Given the description of an element on the screen output the (x, y) to click on. 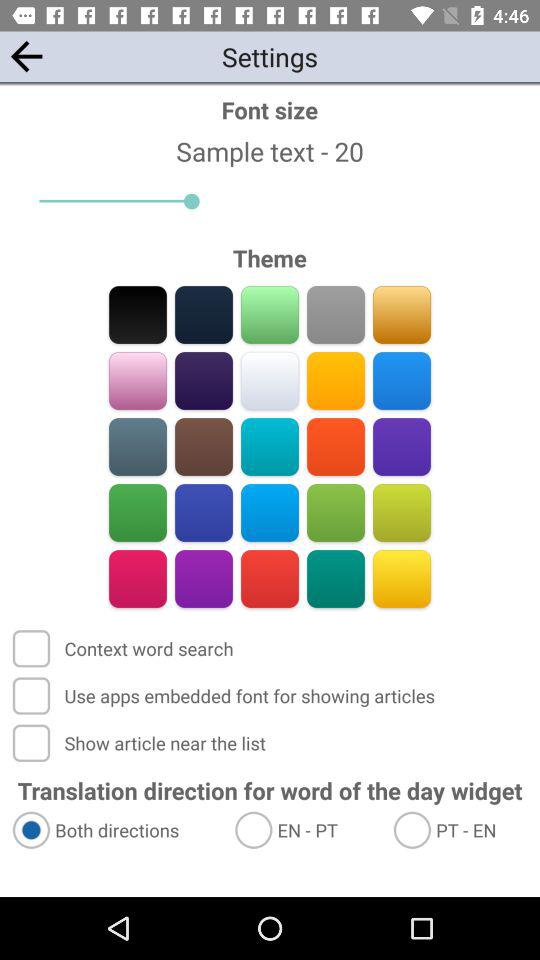
select a color (137, 578)
